Given the description of an element on the screen output the (x, y) to click on. 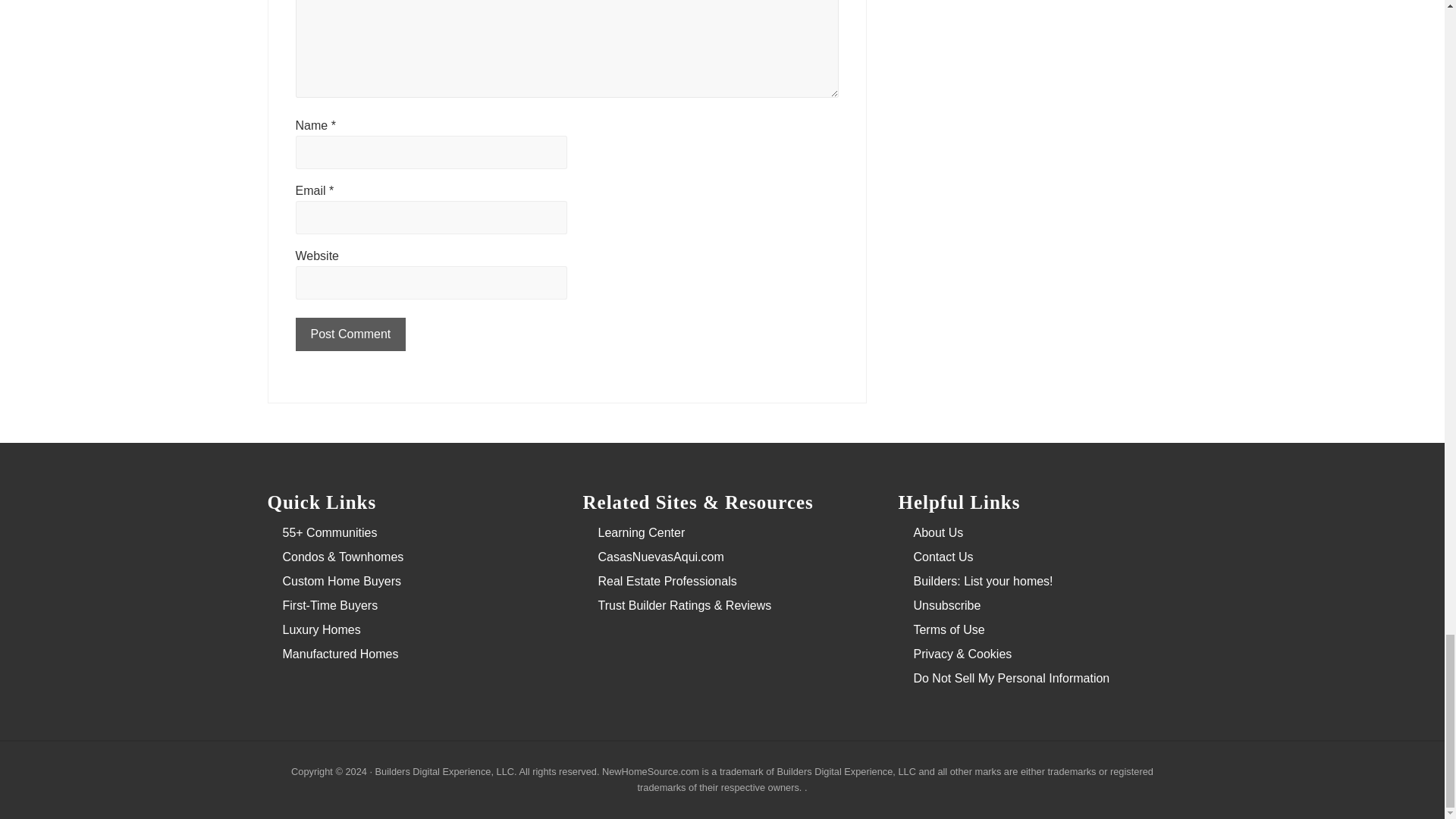
Post Comment (350, 334)
